Given the description of an element on the screen output the (x, y) to click on. 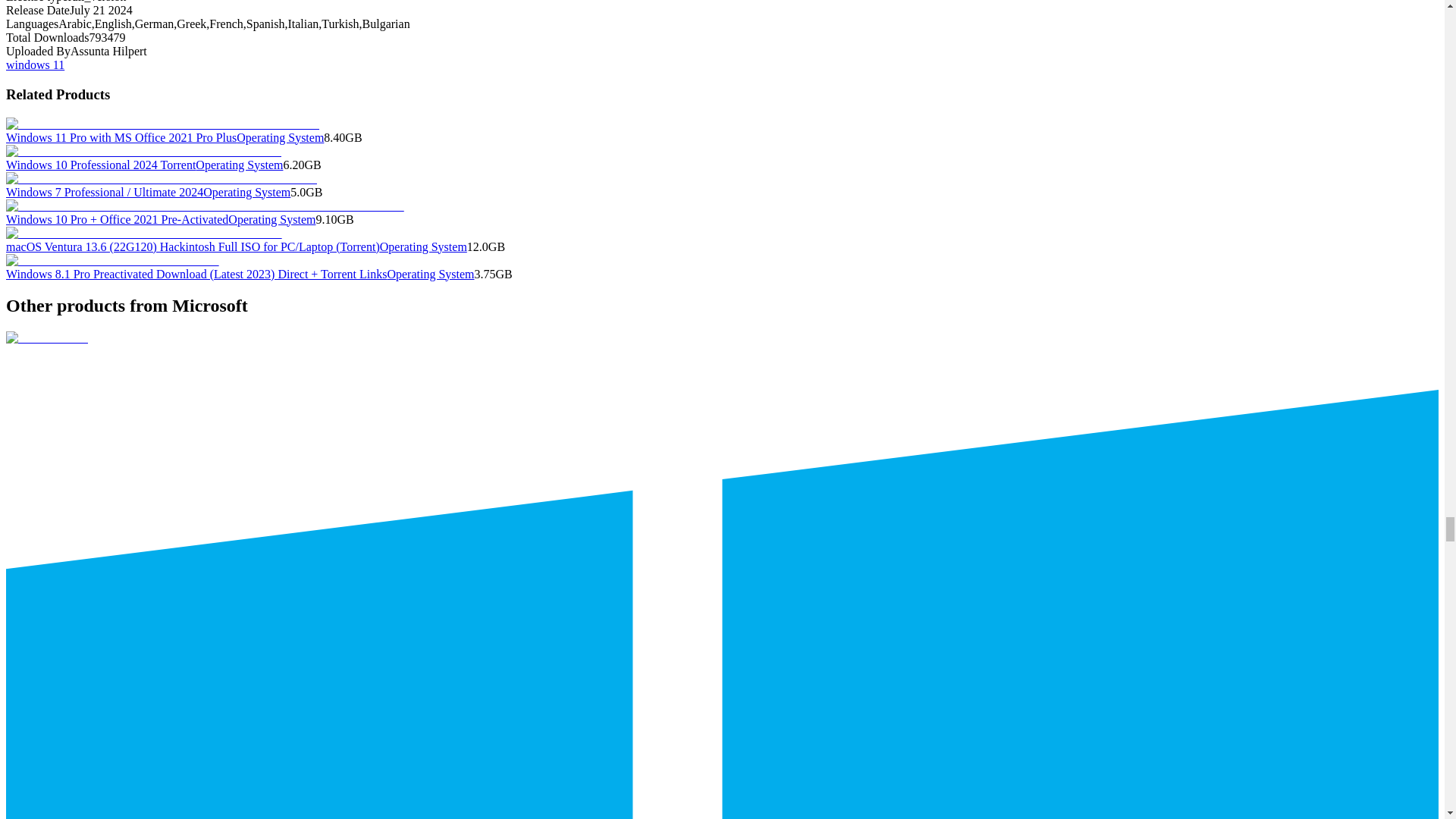
windows 11 (34, 64)
Windows 11 Pro with MS Office 2021 Pro Plus (120, 137)
Operating System (246, 192)
Operating System (279, 137)
Operating System (238, 164)
Windows 10 Professional 2024 Torrent (100, 164)
